Given the description of an element on the screen output the (x, y) to click on. 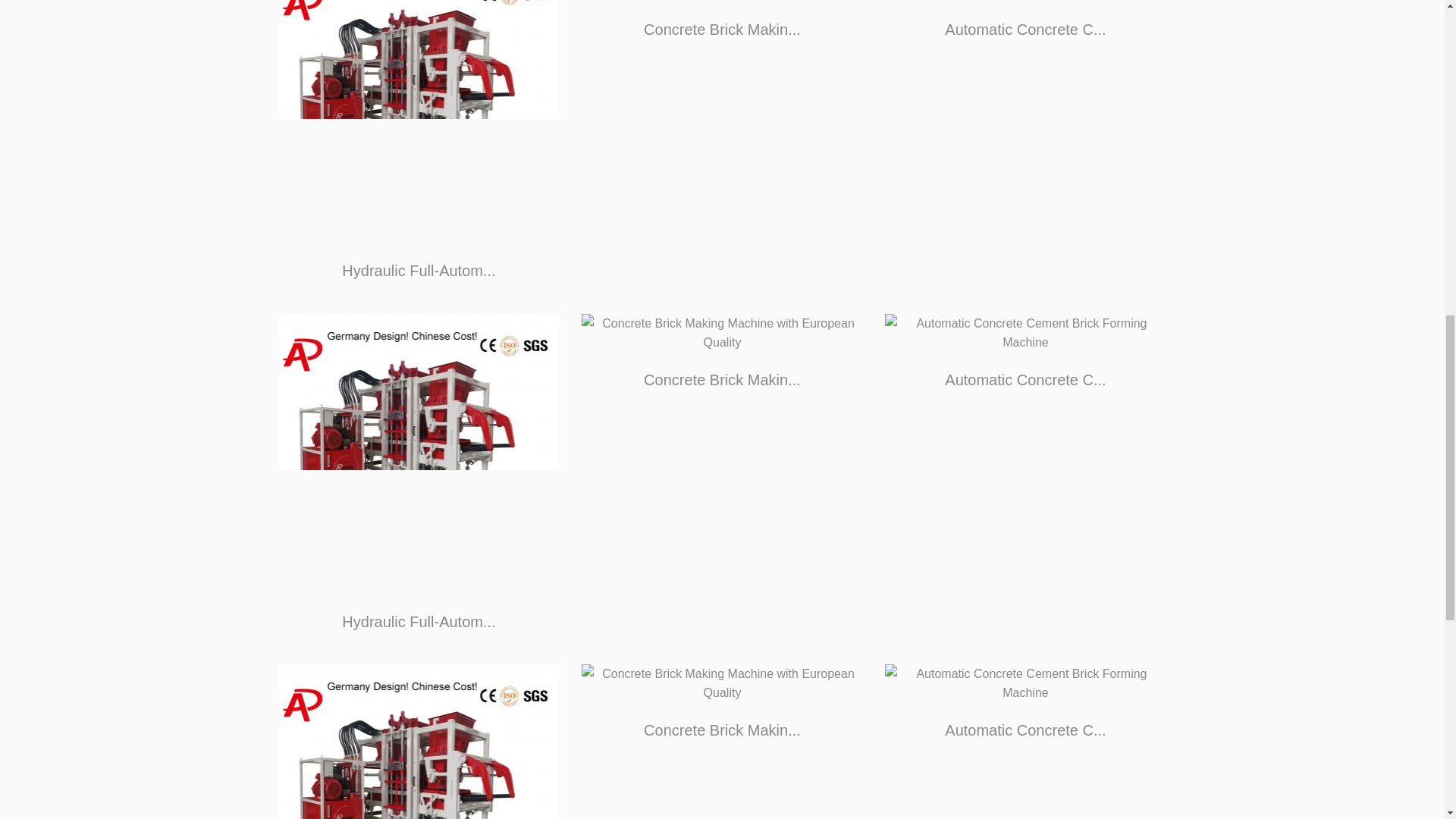
Hydraulic Full-Autom... (418, 620)
Automatic Concrete Cement Brick Forming Machine (1025, 683)
Hydraulic Full-Automatic Concrete Brick Making Machine (419, 741)
Automatic Concrete Cement Brick Forming Machine (1025, 332)
Hydraulic Full-Automatic Concrete Brick Making Machine (419, 453)
Concrete Brick Makin... (721, 379)
Concrete Brick Makin... (721, 29)
Automatic Concrete C... (1024, 729)
